Given the description of an element on the screen output the (x, y) to click on. 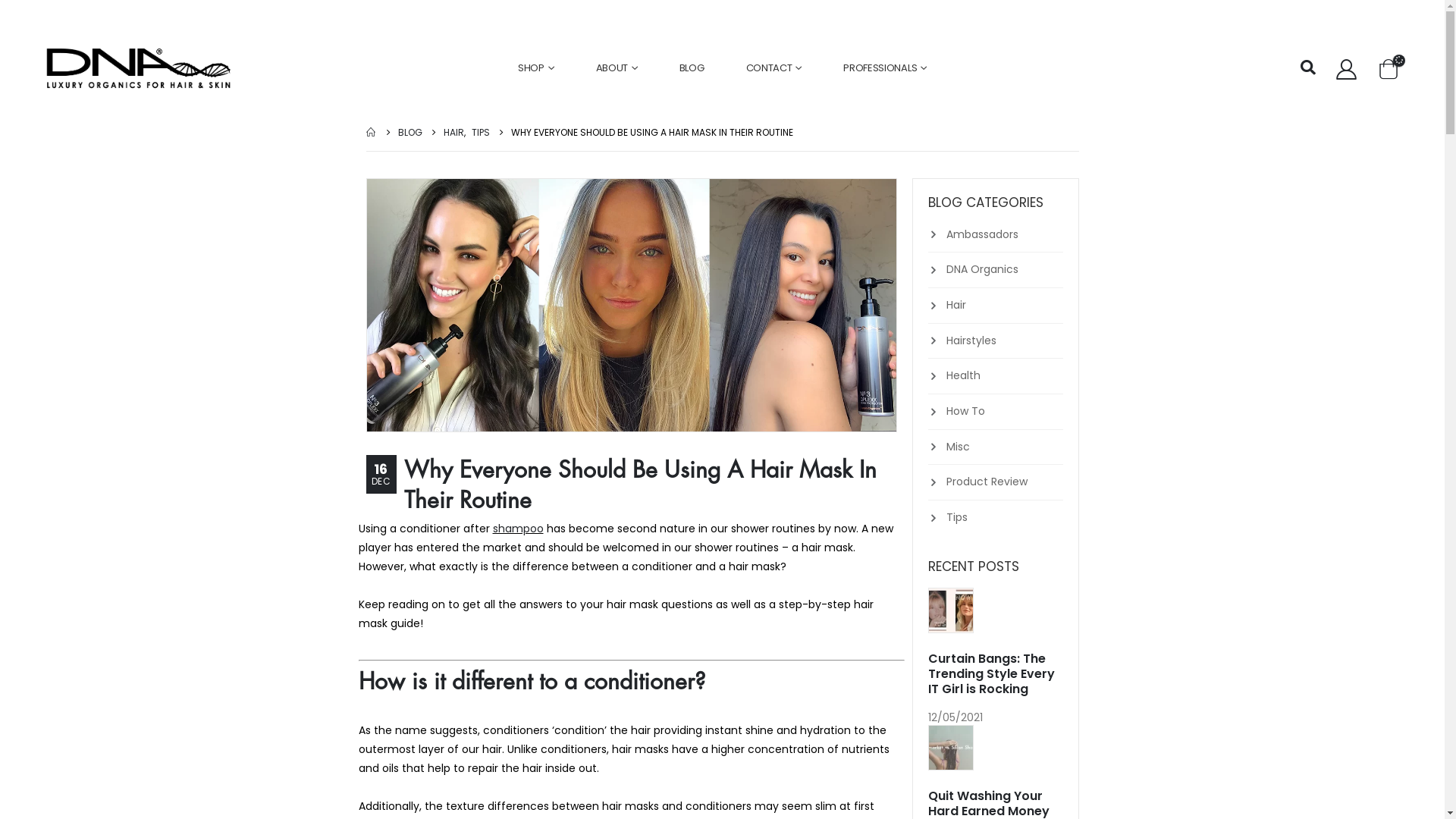
Go to Home Page Element type: hover (370, 131)
Tips Element type: text (956, 516)
shampoo Element type: text (517, 528)
DNA Organics Element type: text (982, 268)
Misc Element type: text (957, 446)
Product Review Element type: text (986, 481)
How To Element type: text (965, 410)
Curtain Bangs: The Trending Style Every IT Girl is Rocking Element type: text (991, 673)
Hairstyles Element type: text (971, 340)
PROFESSIONALS Element type: text (884, 68)
My Account Element type: hover (1345, 67)
Hair Element type: text (956, 304)
BLOG Element type: text (409, 131)
SHOP Element type: text (535, 68)
Health Element type: text (963, 374)
TIPS Element type: text (480, 131)
ABOUT Element type: text (616, 68)
Ambassadors Element type: text (982, 233)
HAIR Element type: text (452, 131)
BLOG Element type: text (691, 68)
DNA Organics Australia - Luxury Organics for Hair & Skin Element type: hover (138, 67)
CONTACT Element type: text (773, 68)
